Given the description of an element on the screen output the (x, y) to click on. 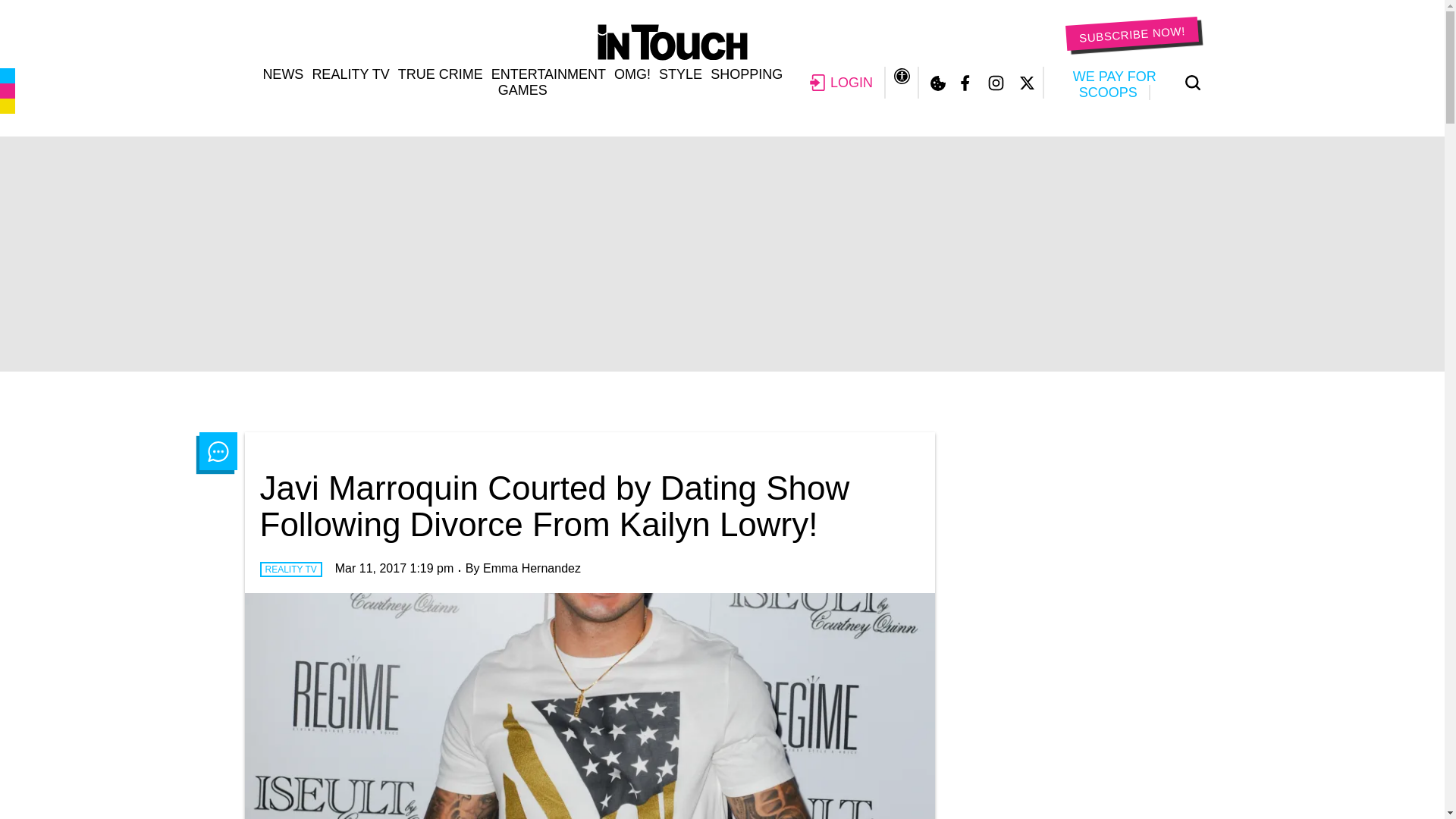
Posts by Emma Hernandez (531, 567)
